Given the description of an element on the screen output the (x, y) to click on. 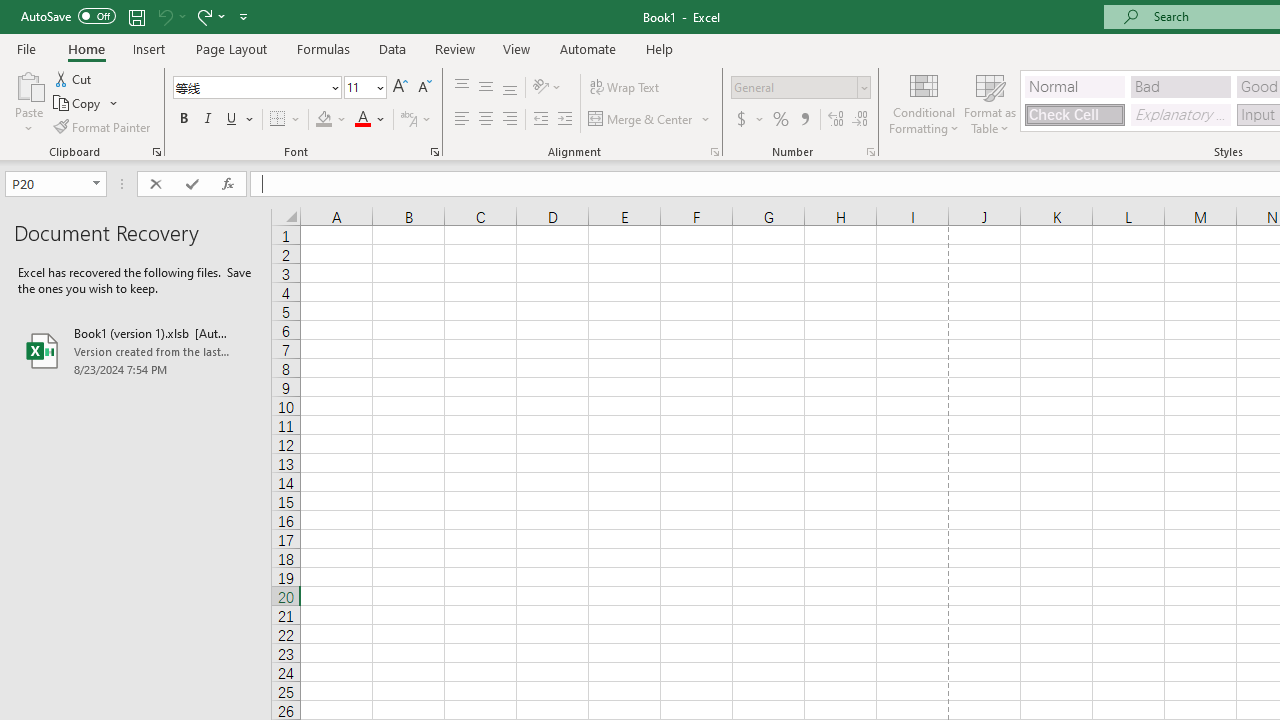
Number Format (794, 87)
Merge & Center (649, 119)
Save (136, 15)
Check Cell (1074, 114)
AutoSave (68, 16)
